Given the description of an element on the screen output the (x, y) to click on. 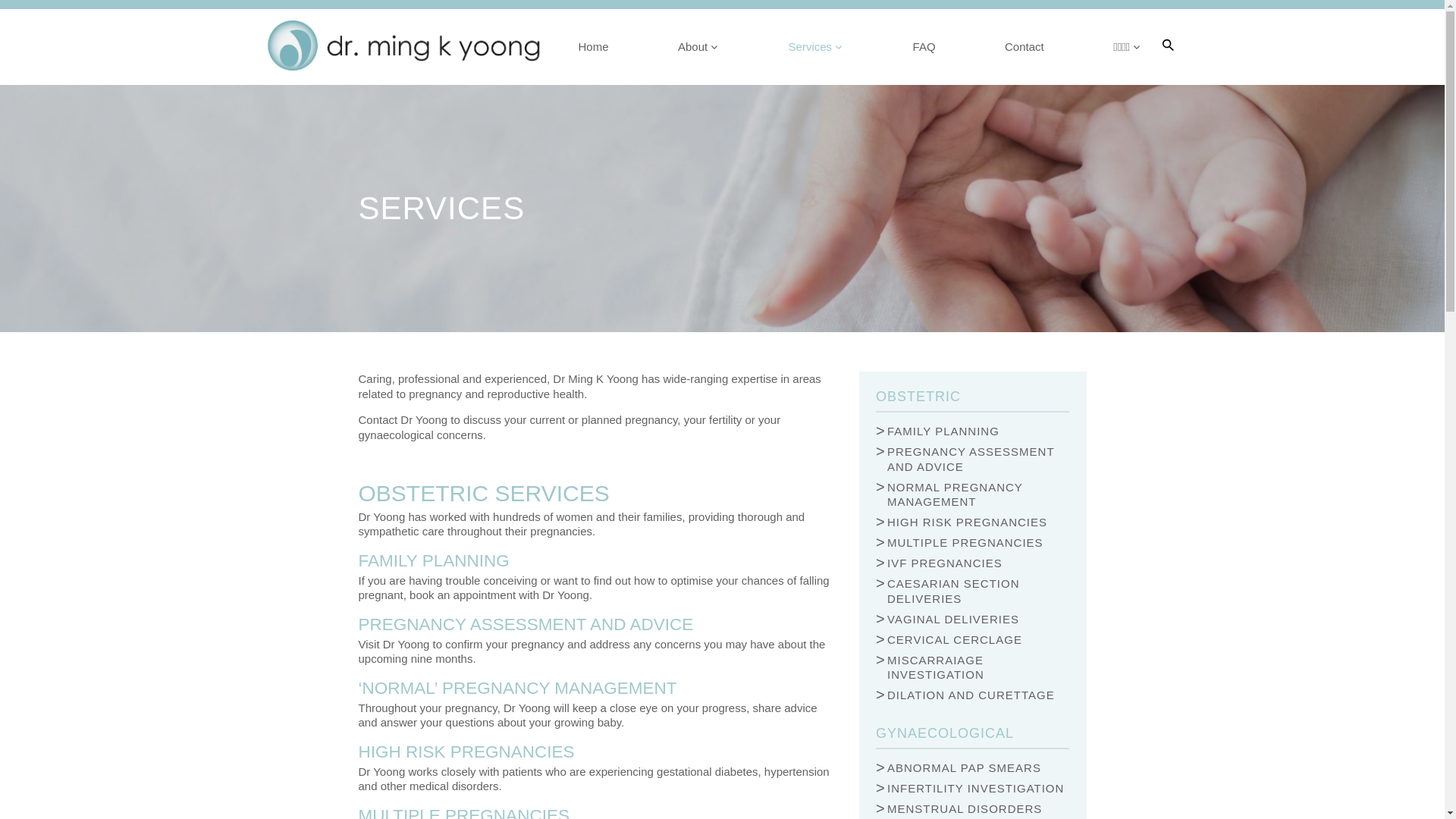
INFERTILITY INVESTIGATION Element type: text (972, 788)
CERVICAL CERCLAGE Element type: text (972, 639)
Home Element type: text (592, 46)
About Element type: text (697, 46)
FAQ Element type: text (924, 46)
DILATION AND CURETTAGE Element type: text (972, 694)
MULTIPLE PREGNANCIES Element type: text (972, 542)
Services Element type: text (816, 46)
MENSTRUAL DISORDERS Element type: text (972, 808)
HIGH RISK PREGNANCIES Element type: text (972, 522)
FAMILY PLANNING Element type: text (972, 431)
VAGINAL DELIVERIES Element type: text (972, 619)
ABNORMAL PAP SMEARS Element type: text (972, 767)
IVF PREGNANCIES Element type: text (972, 563)
Contact Element type: text (1024, 46)
MISCARRAIAGE INVESTIGATION Element type: text (972, 667)
PREGNANCY ASSESSMENT AND ADVICE Element type: text (972, 458)
CAESARIAN SECTION DELIVERIES Element type: text (972, 590)
NORMAL PREGNANCY MANAGEMENT Element type: text (972, 494)
